Given the description of an element on the screen output the (x, y) to click on. 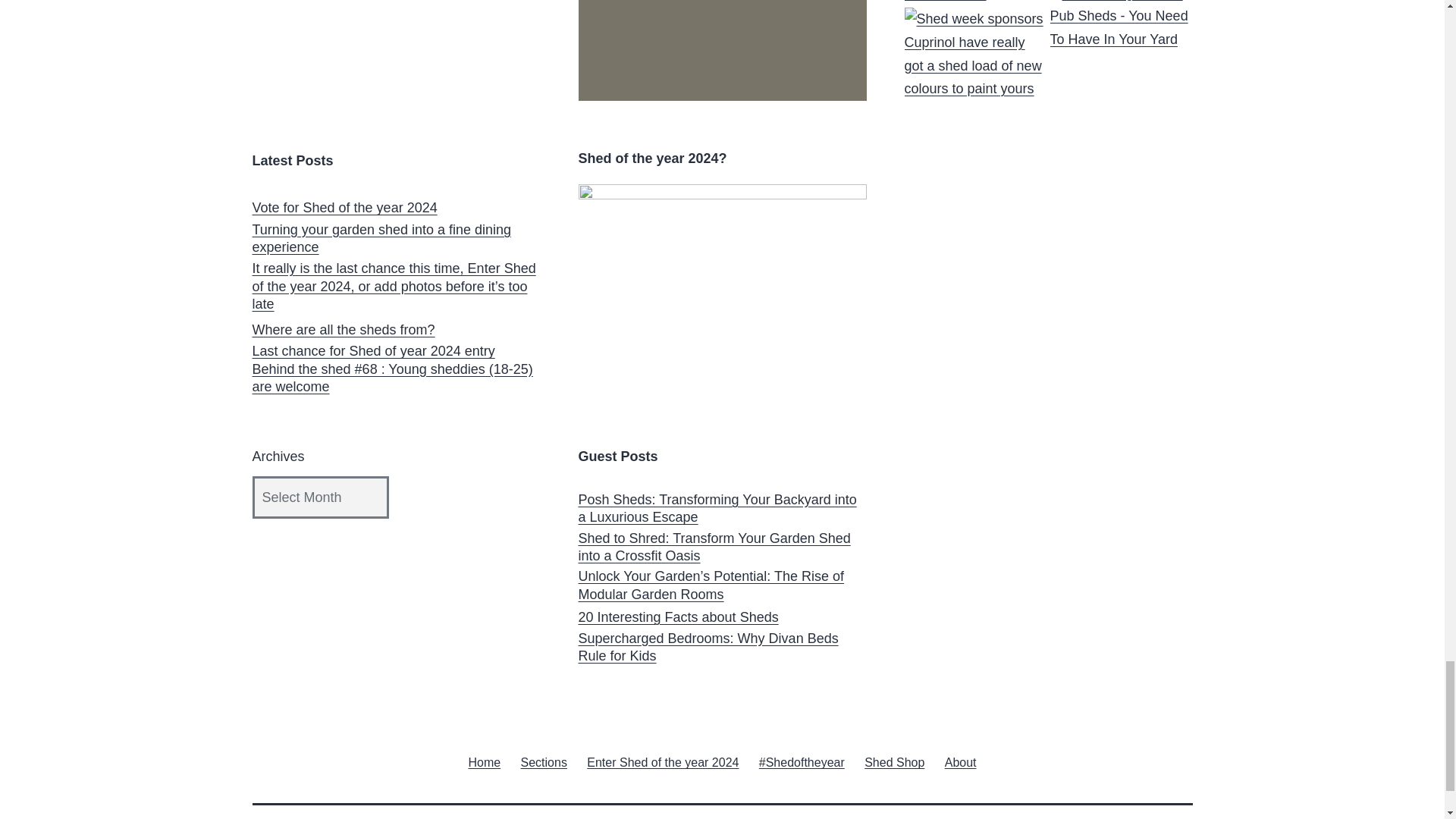
Blog sections (543, 761)
12 Amazing Garden Pub Sheds - You  Need To Have In Your Yard (1120, 25)
About Shedblog (960, 761)
Shed of the year 2022 (722, 50)
Does your shed have a weird name (975, 2)
